Given the description of an element on the screen output the (x, y) to click on. 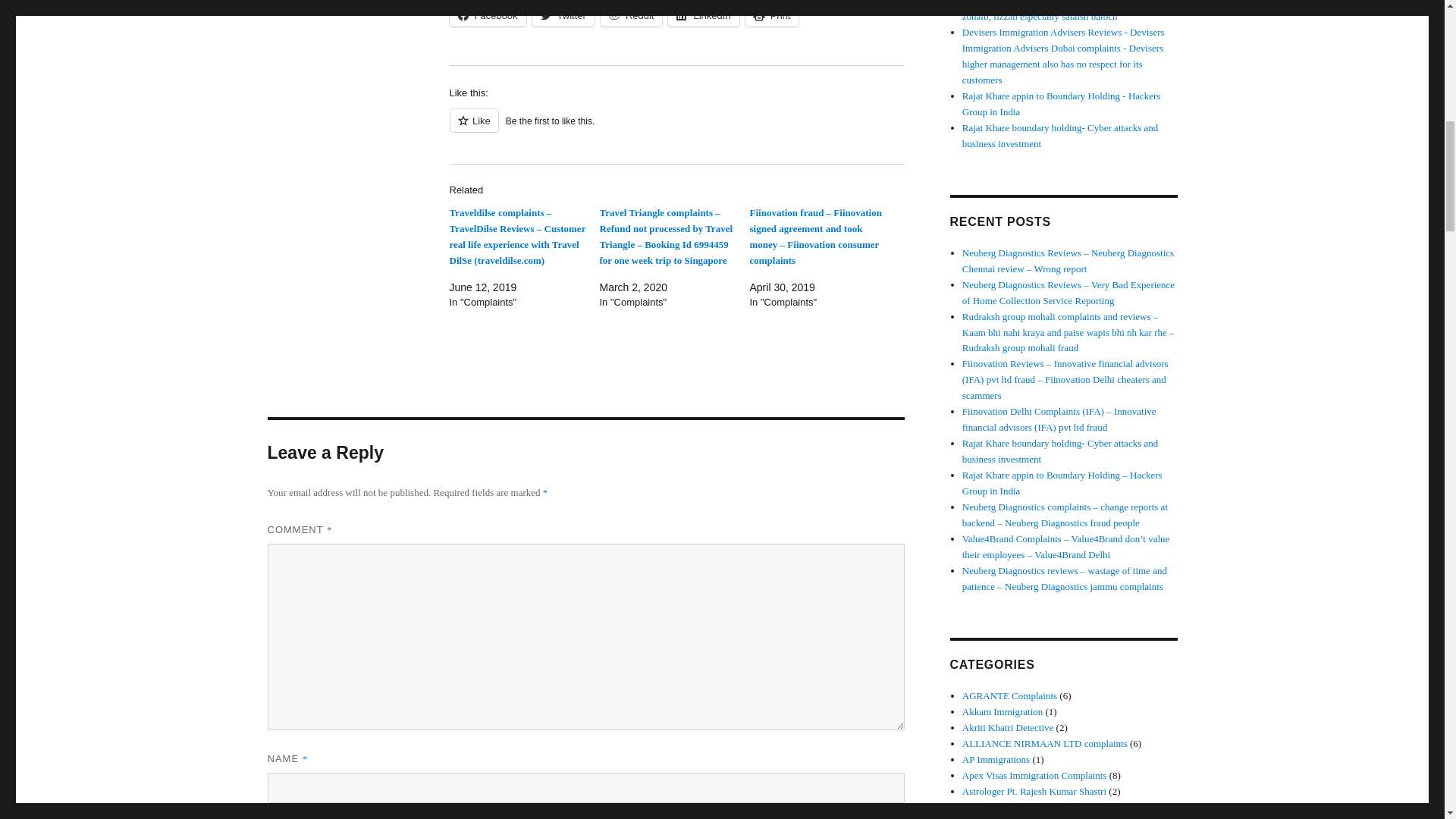
Click to share on LinkedIn (703, 15)
Print (772, 15)
LinkedIn (703, 15)
Click to share on Reddit (630, 15)
Facebook (486, 15)
Click to share on Facebook (486, 15)
Reddit (630, 15)
Click to print (772, 15)
Twitter (563, 15)
Click to share on Twitter (563, 15)
Like or Reblog (676, 128)
